Given the description of an element on the screen output the (x, y) to click on. 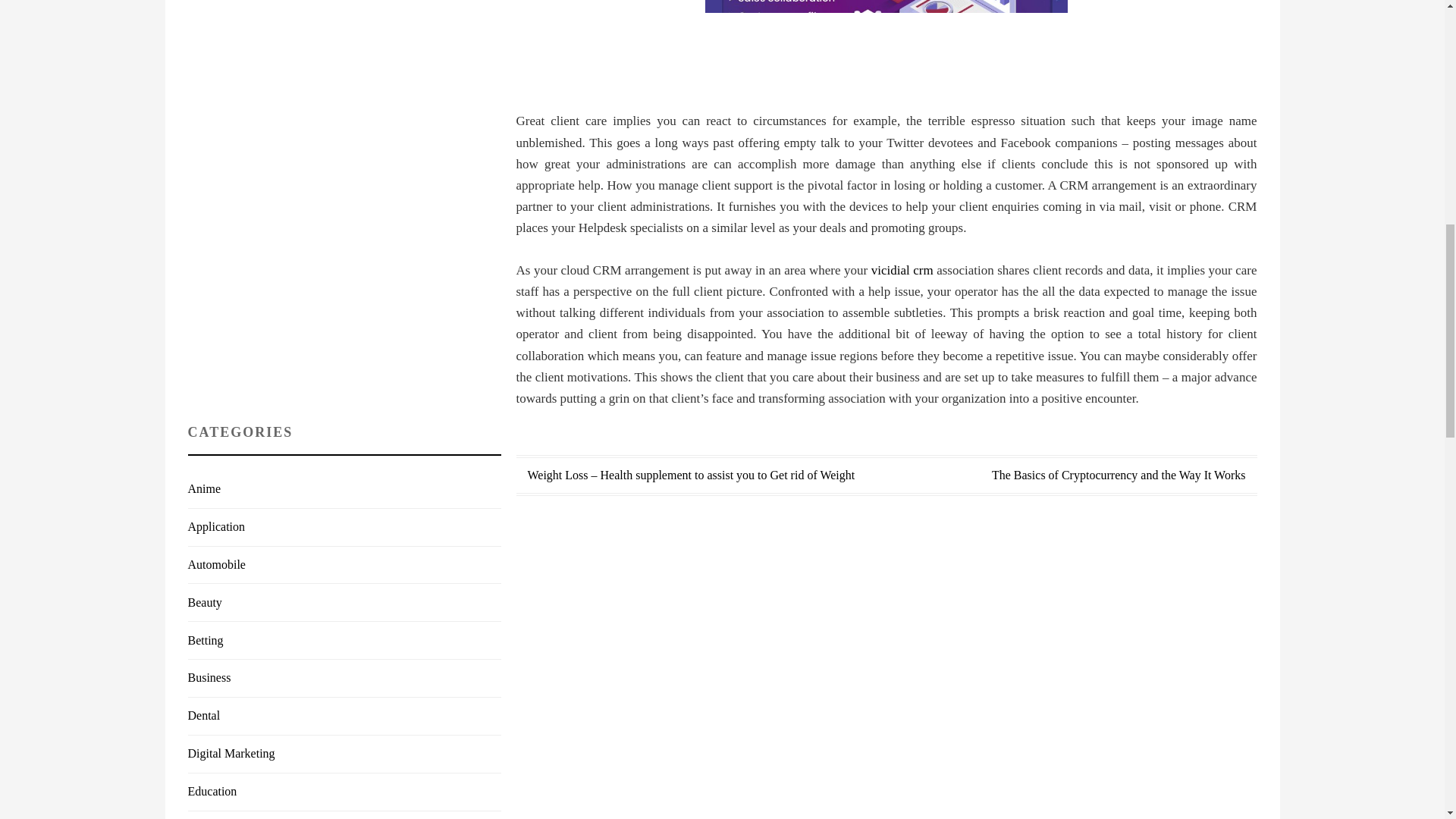
Application (216, 526)
Betting (205, 640)
Digital Marketing (231, 753)
Anime (204, 488)
The Basics of Cryptocurrency and the Way It Works (1118, 474)
Dental (204, 715)
Business (209, 676)
vicidial crm (901, 269)
Automobile (216, 563)
Education (212, 790)
